Given the description of an element on the screen output the (x, y) to click on. 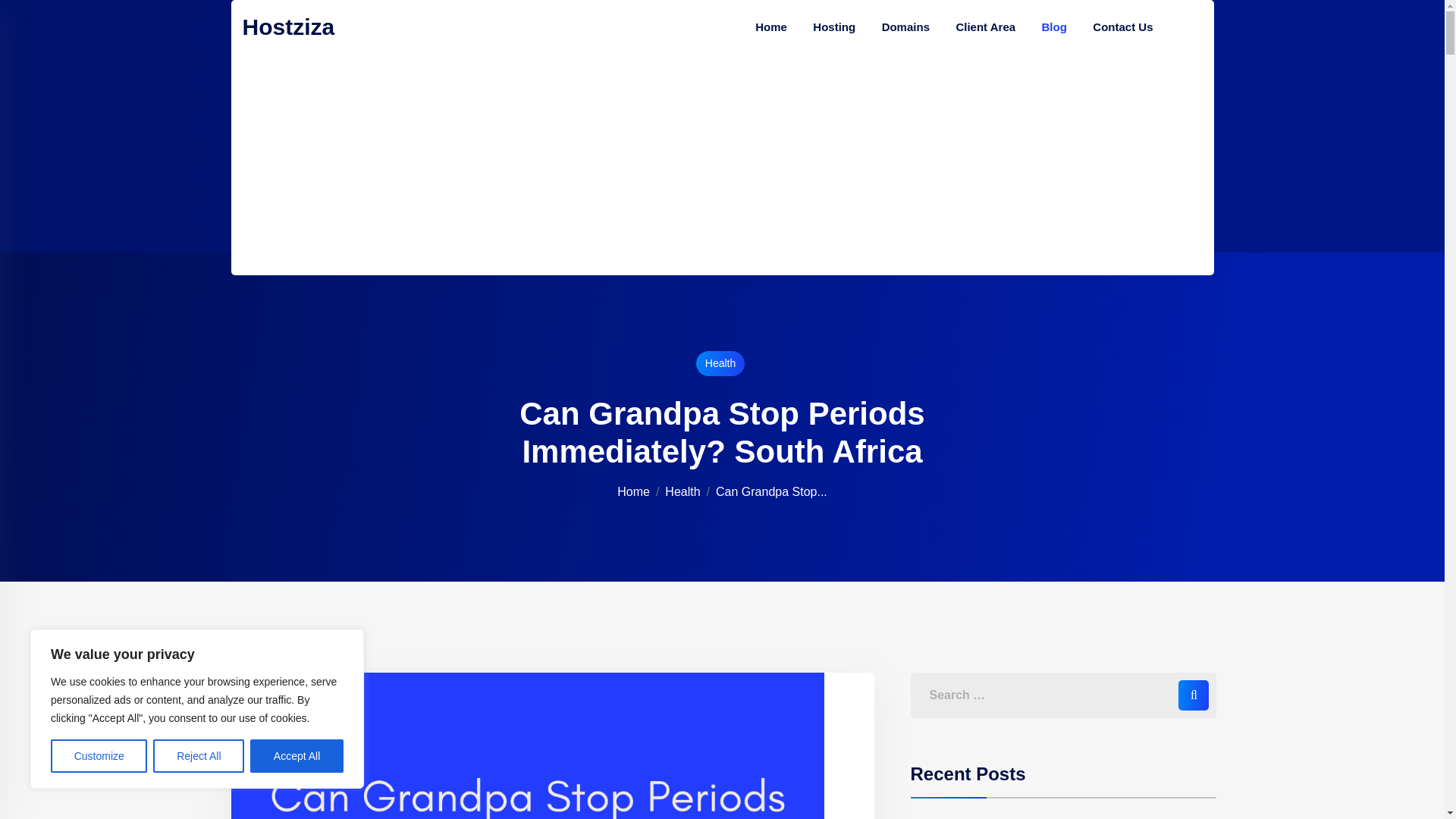
Accept All (296, 756)
Contact Us (1122, 27)
Home (633, 491)
Home (770, 27)
Domains (905, 27)
Home (633, 491)
Hosting (834, 27)
Hostziza (315, 26)
Can Grandpa Stop Periods Immediately? South Africa (771, 491)
Health (719, 362)
Customize (98, 756)
Health (682, 491)
Client Area (984, 27)
Reject All (198, 756)
